Given the description of an element on the screen output the (x, y) to click on. 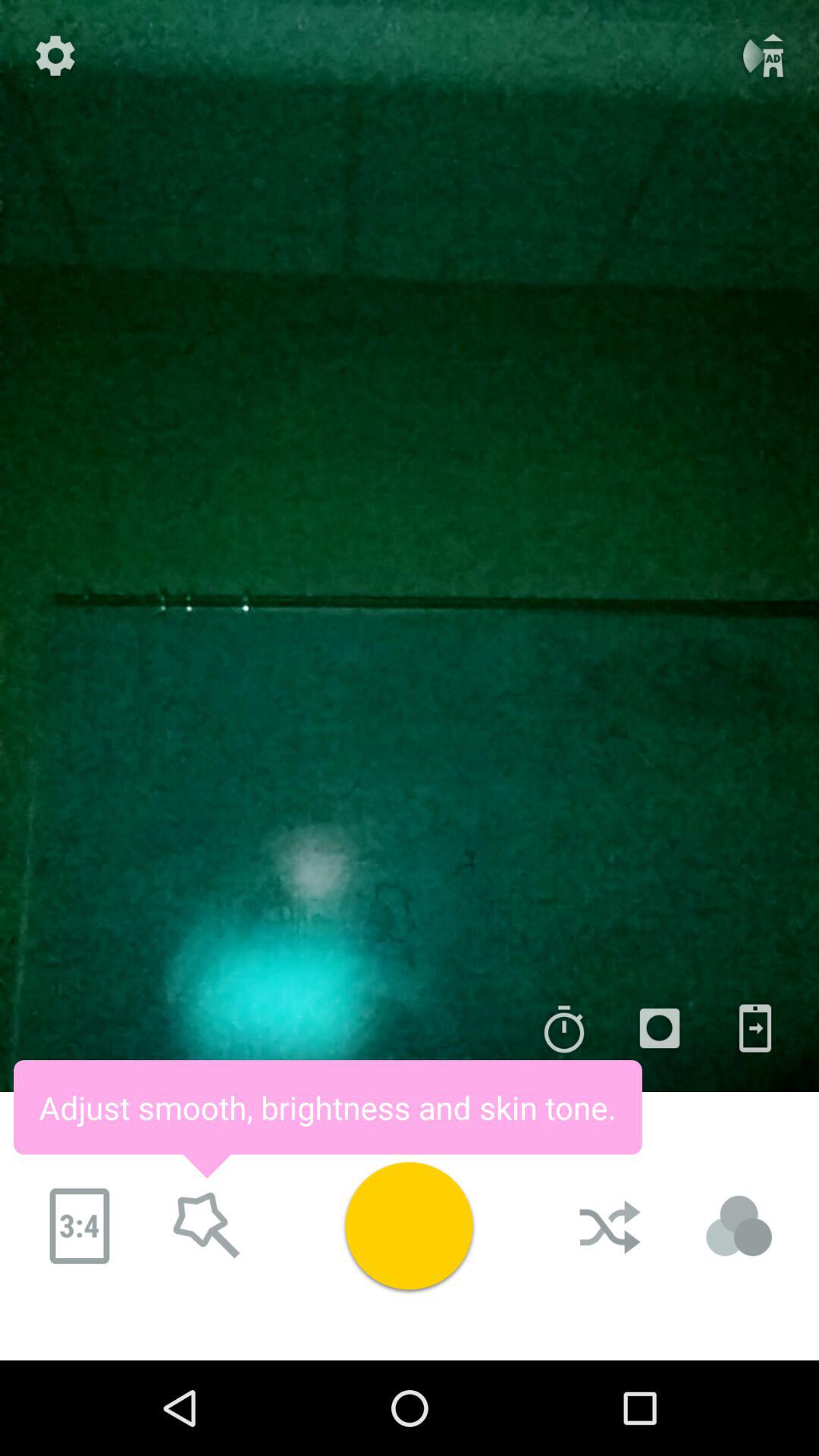
click to capture (408, 1225)
